Given the description of an element on the screen output the (x, y) to click on. 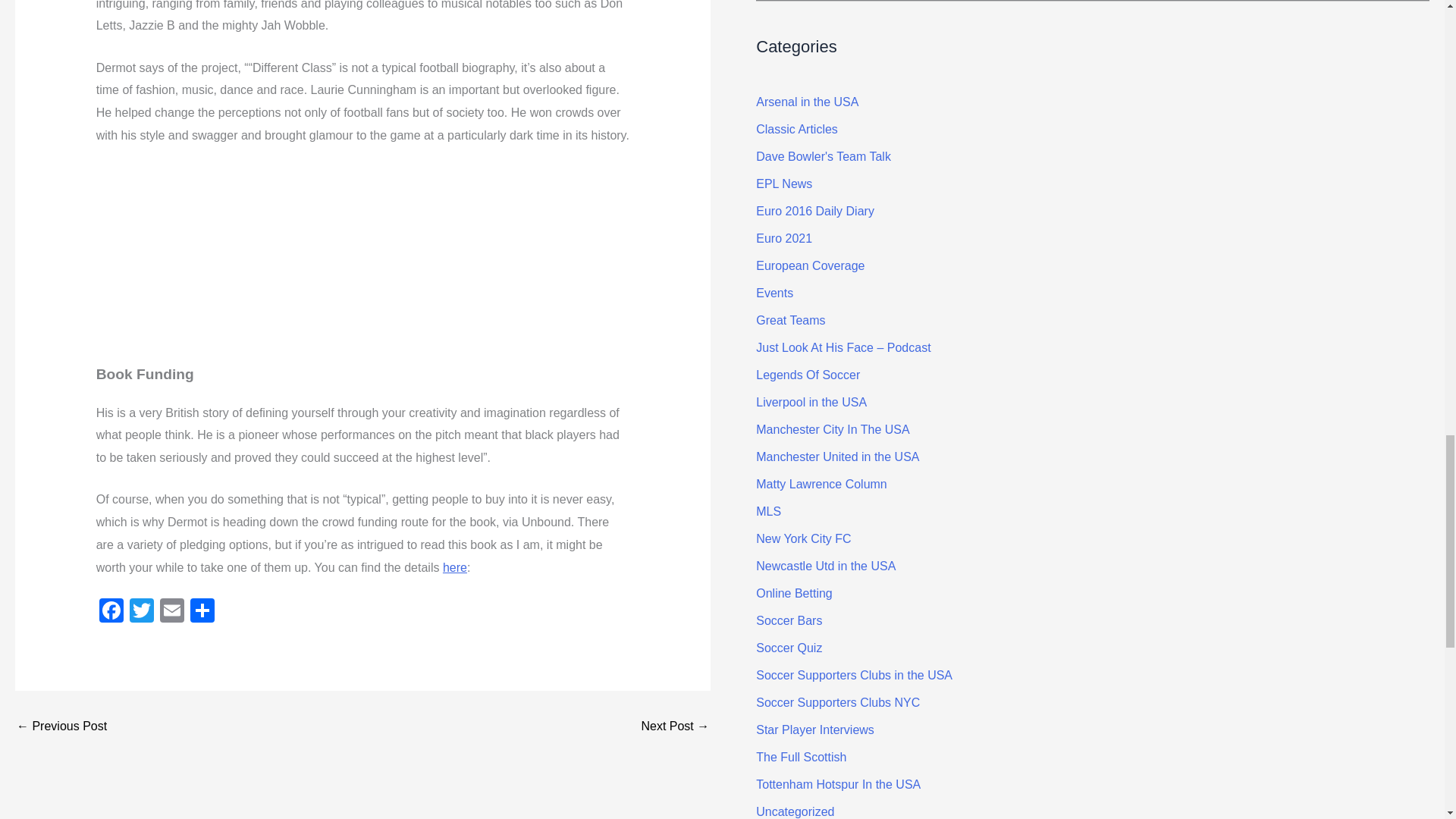
Gary Neville Steals La Liga Headlines (674, 726)
Manchester City In The USA (831, 429)
Email (172, 612)
Events (774, 292)
Facebook (111, 612)
Email (172, 612)
Facebook (111, 612)
Euro 2021 (783, 237)
Matty Lawrence Column (820, 483)
Euro 2016 Daily Diary (815, 210)
